Given the description of an element on the screen output the (x, y) to click on. 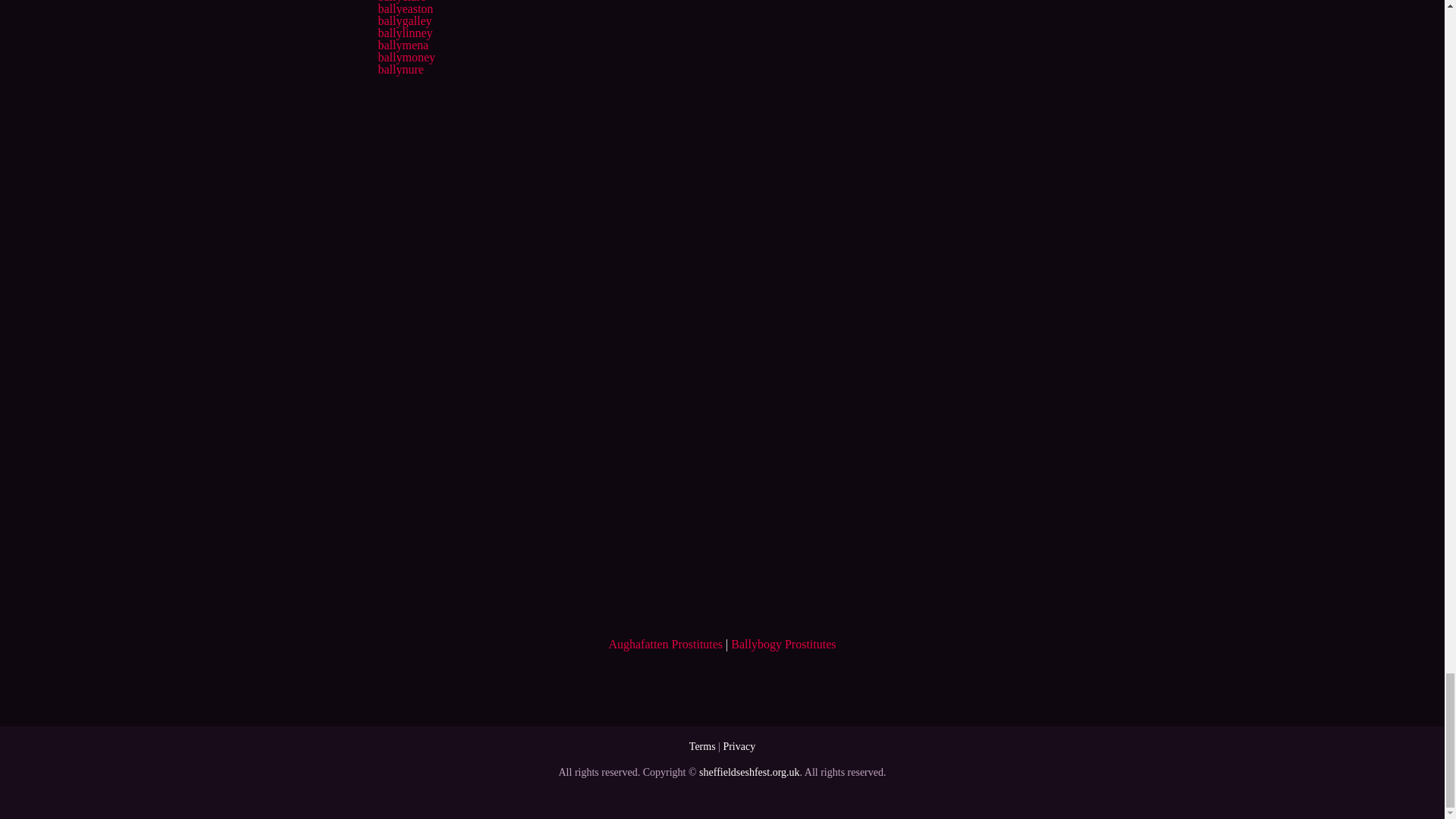
ballyeaston (404, 8)
sheffieldseshfest.org.uk (748, 772)
ballyclare (401, 1)
Aughafatten Prostitutes (665, 644)
Ballybogy Prostitutes (782, 644)
ballymena (402, 44)
Terms (702, 746)
ballymoney (406, 56)
Terms (702, 746)
ballylinney (404, 32)
